Given the description of an element on the screen output the (x, y) to click on. 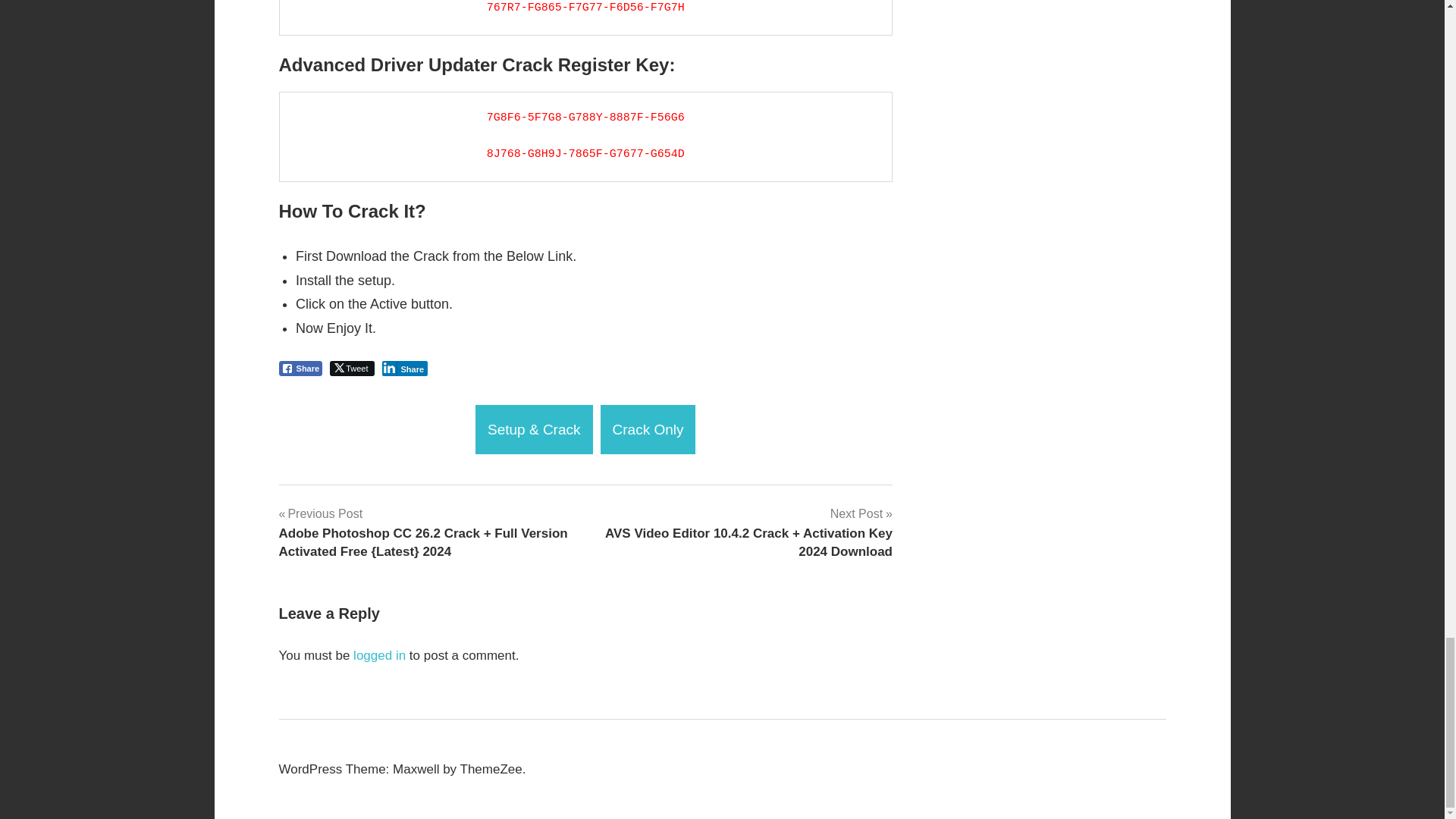
Share (404, 368)
Crack Only (647, 429)
Share (301, 368)
Tweet (352, 368)
